Given the description of an element on the screen output the (x, y) to click on. 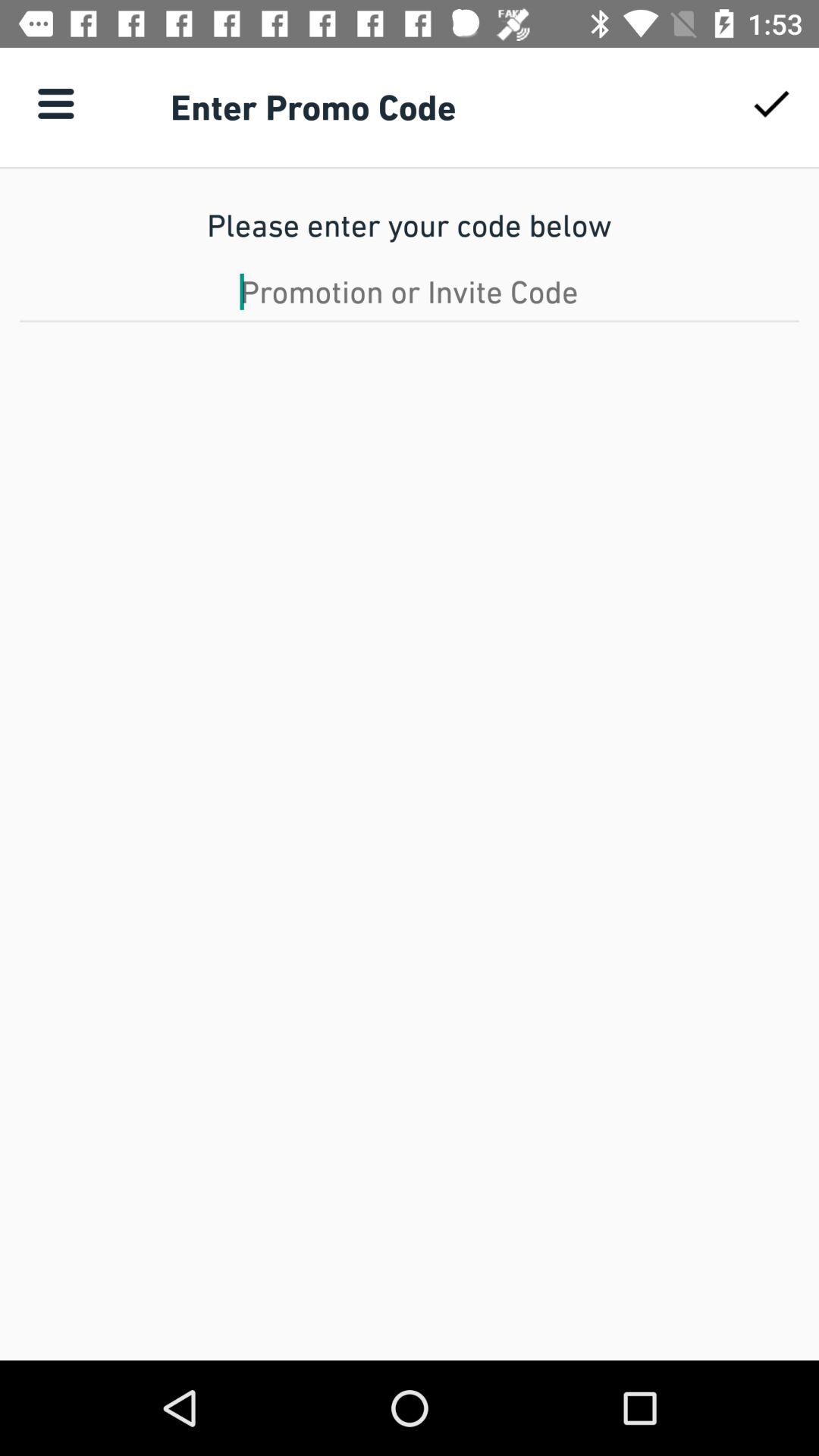
open icon to the right of the enter promo code (771, 103)
